Given the description of an element on the screen output the (x, y) to click on. 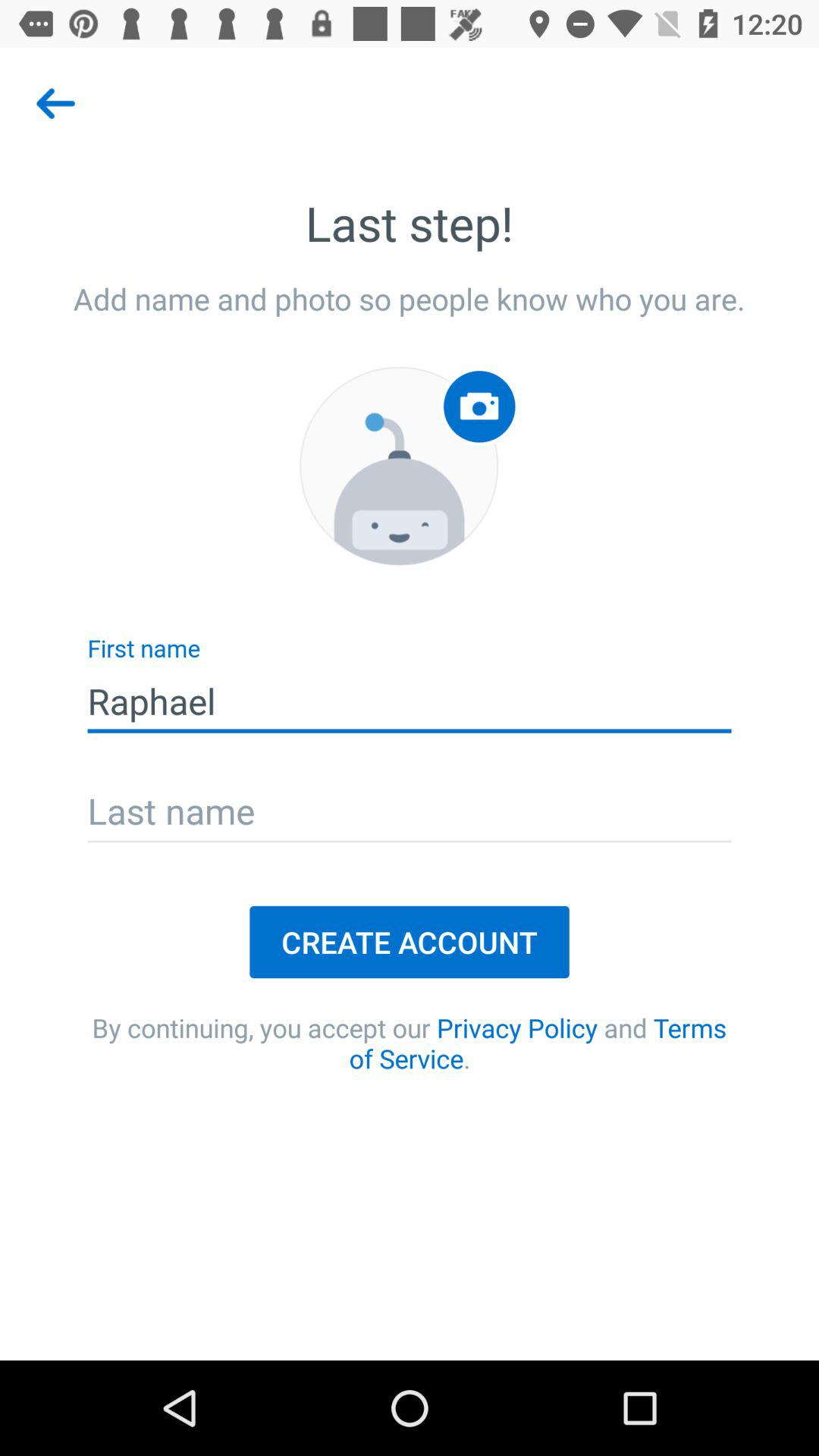
select item above add name and item (55, 103)
